Given the description of an element on the screen output the (x, y) to click on. 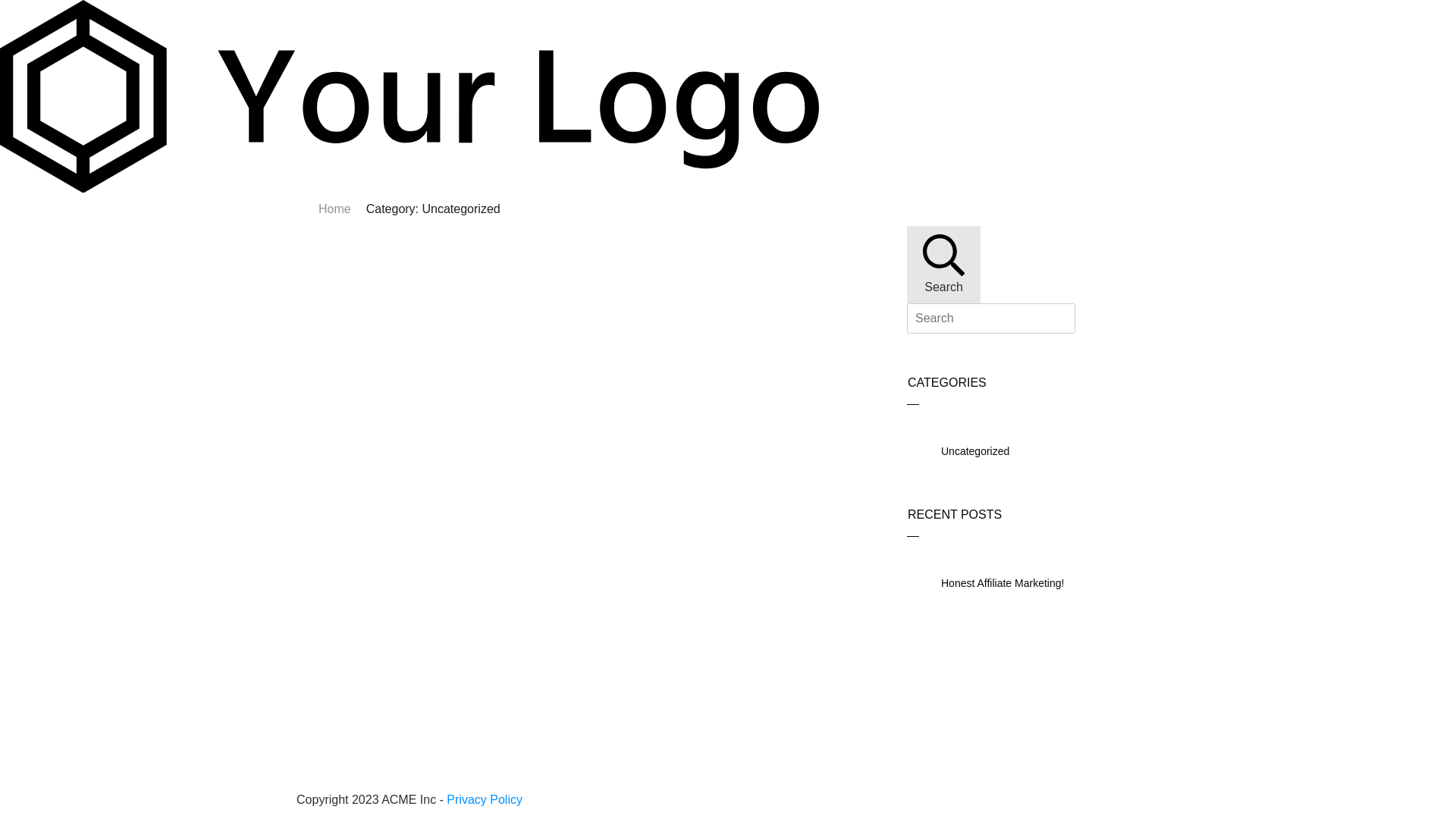
Search Element type: text (943, 264)
Home Element type: text (334, 209)
Uncategorized Element type: text (975, 451)
Honest Affiliate Marketing! Element type: text (1002, 583)
Privacy Policy Element type: text (484, 799)
